Given the description of an element on the screen output the (x, y) to click on. 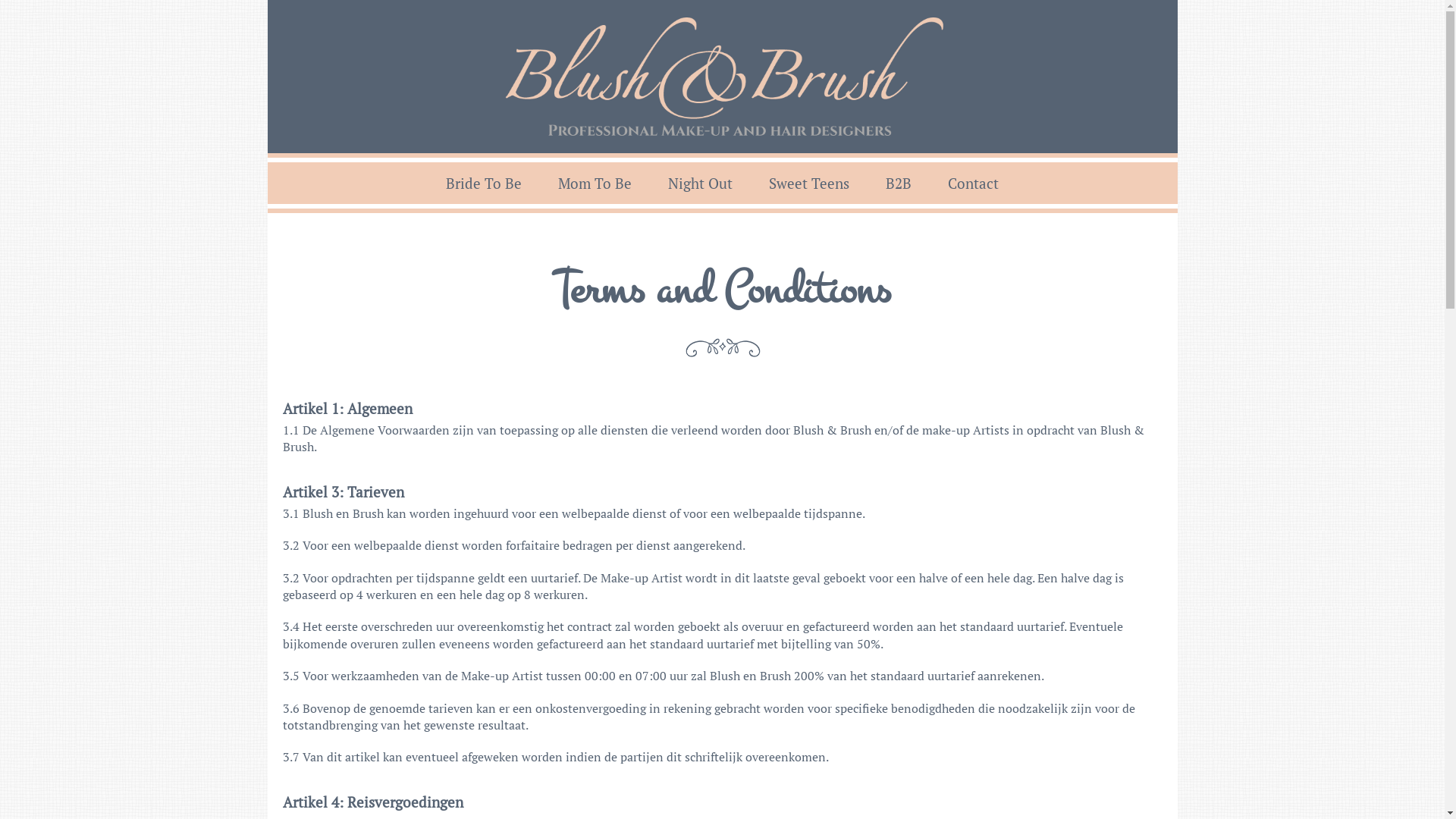
Sweet Teens Element type: text (809, 182)
Contact Element type: text (973, 182)
Night Out Element type: text (700, 182)
Bride To Be Element type: text (483, 182)
Mom To Be Element type: text (594, 182)
B2B Element type: text (898, 182)
